Given the description of an element on the screen output the (x, y) to click on. 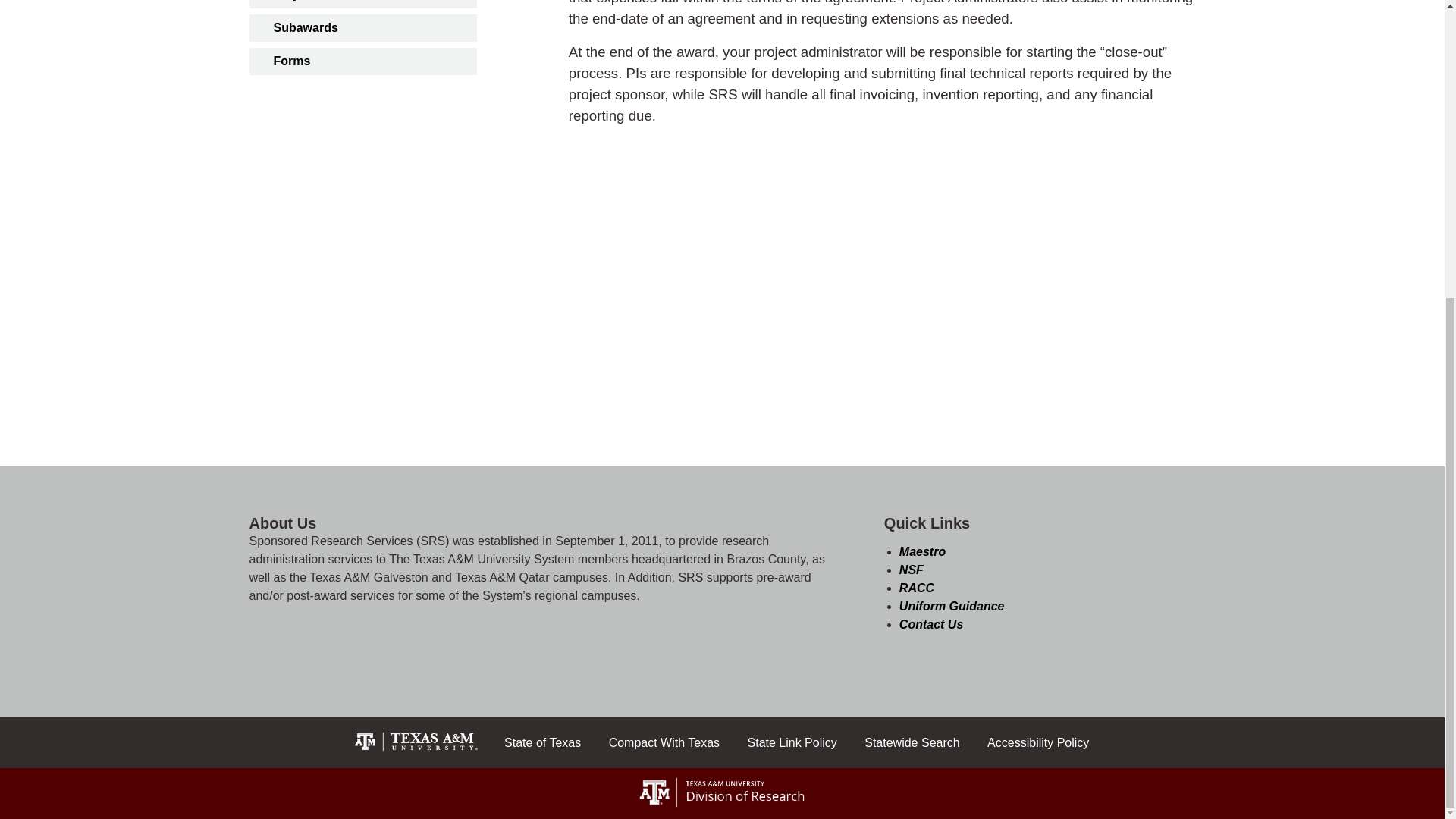
Project Closeout (362, 4)
Forms (362, 61)
Subawards (362, 27)
